Given the description of an element on the screen output the (x, y) to click on. 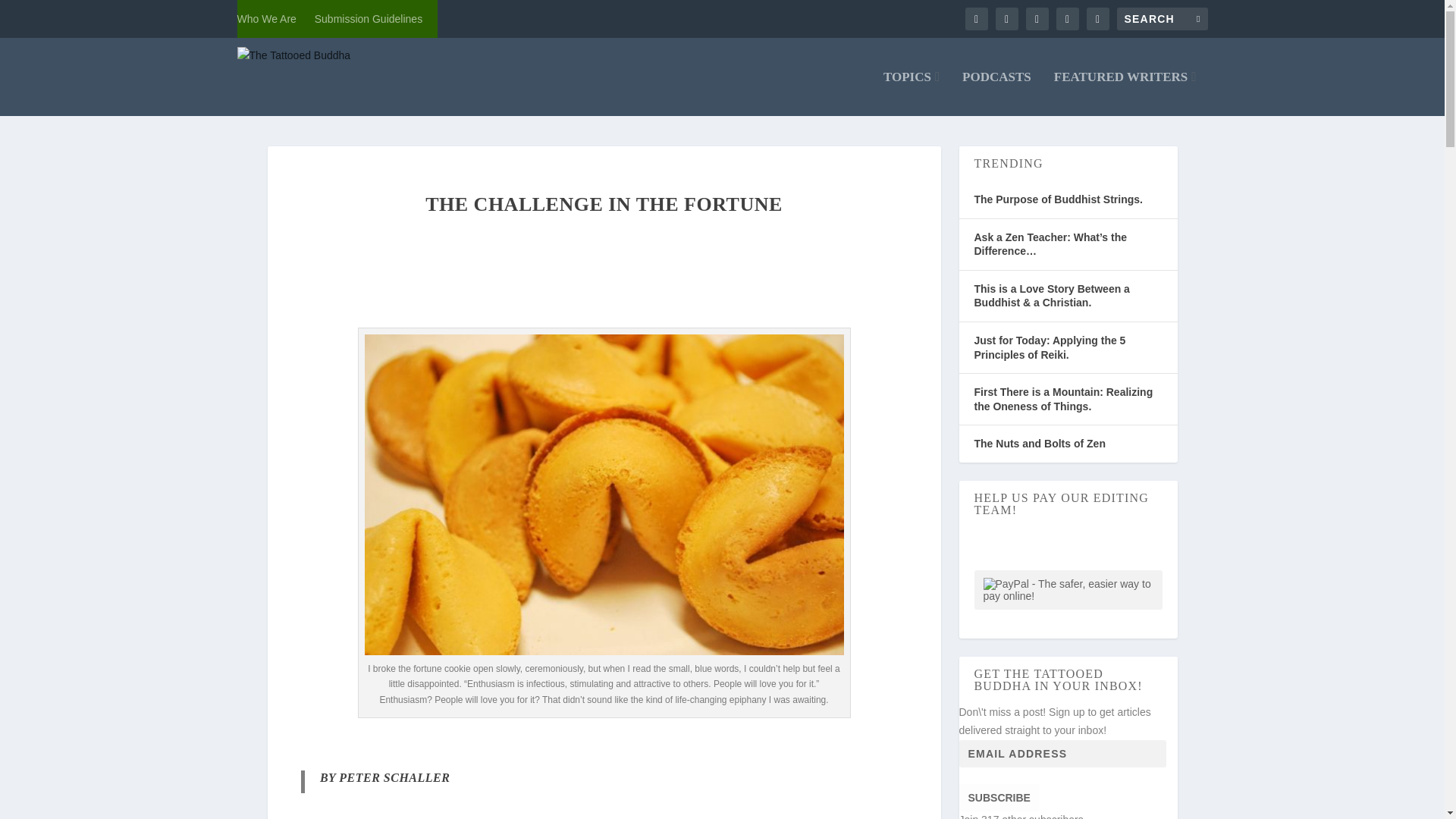
Search for: (1161, 18)
Who We Are (265, 18)
FEATURED WRITERS (1125, 93)
PODCASTS (996, 93)
Submission Guidelines (368, 18)
TOPICS (911, 93)
